Given the description of an element on the screen output the (x, y) to click on. 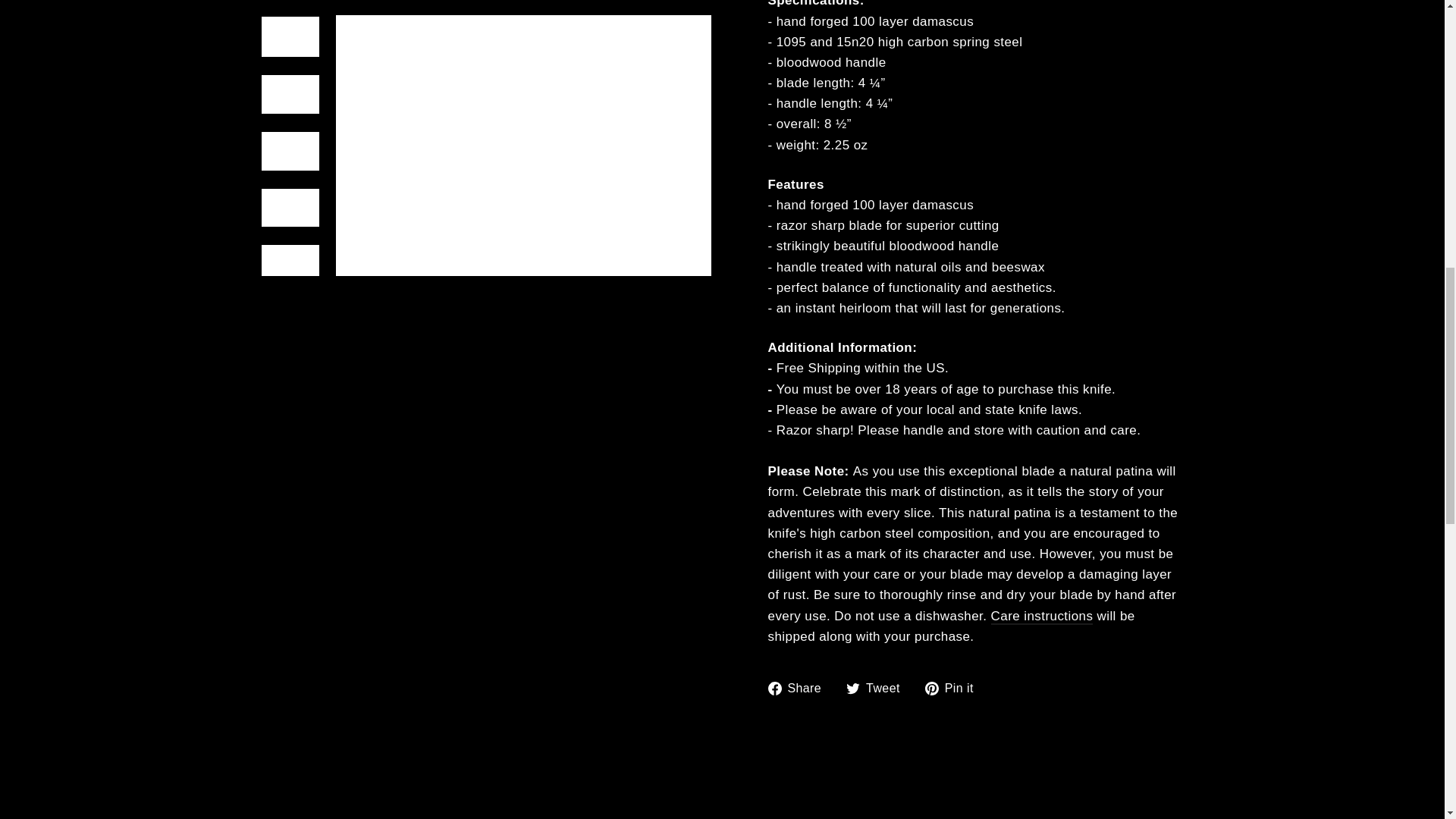
Tweet on Twitter (878, 688)
Share on Facebook (799, 688)
Pin on Pinterest (954, 688)
